Given the description of an element on the screen output the (x, y) to click on. 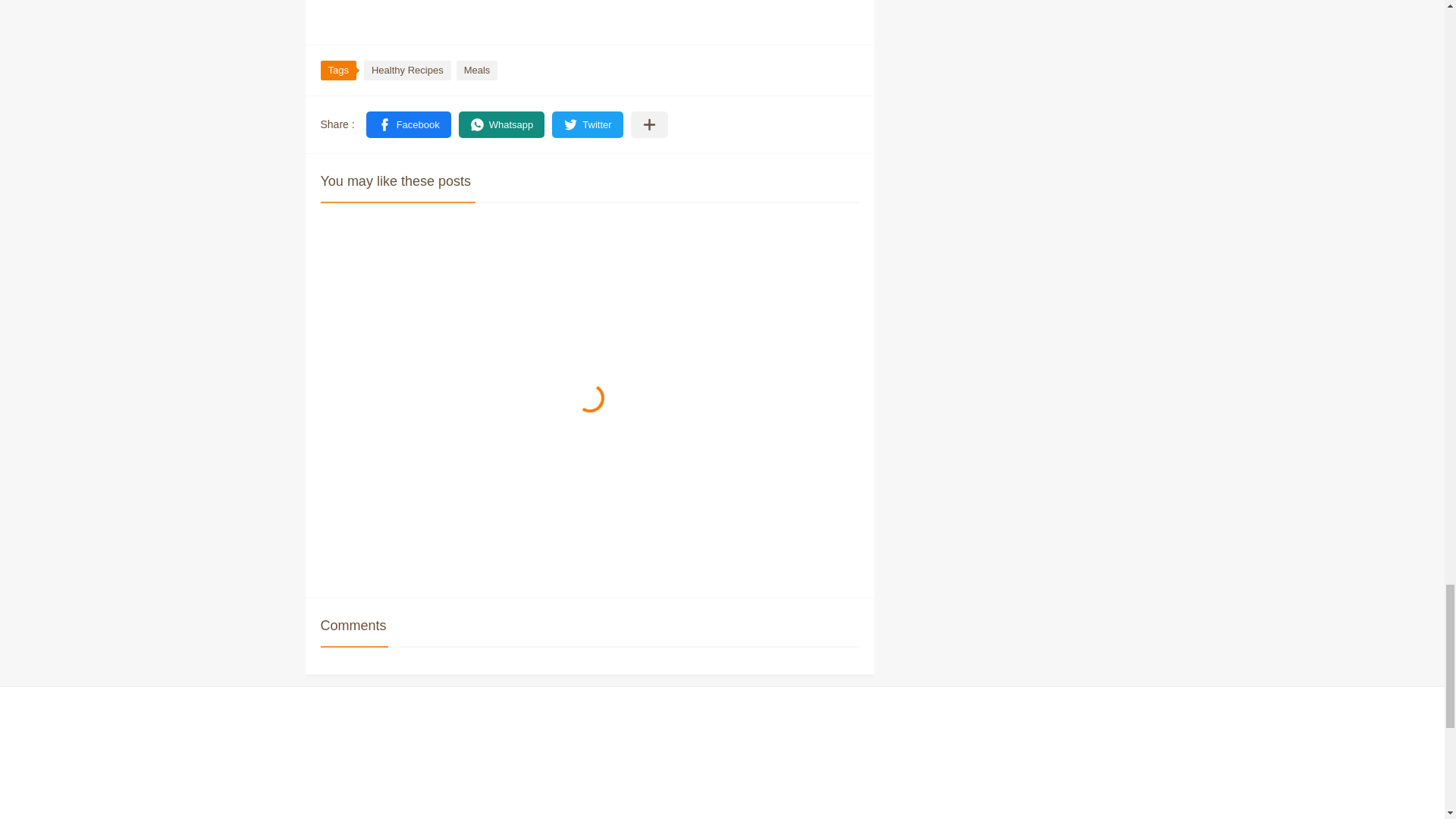
Meals (477, 70)
Healthy Recipes (407, 70)
Meals (477, 70)
Healthy Recipes (407, 70)
